Given the description of an element on the screen output the (x, y) to click on. 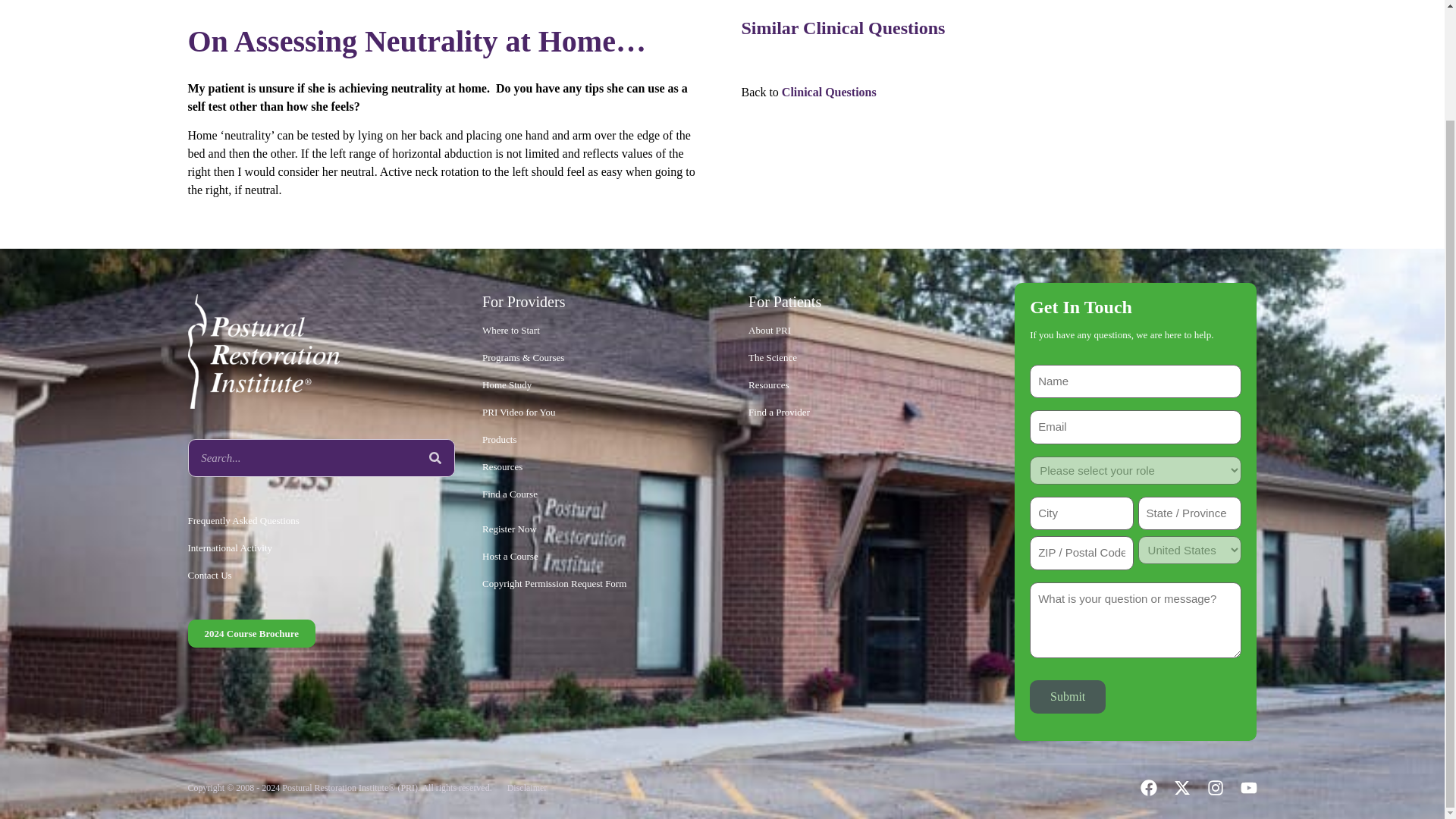
Submit (1067, 696)
